Given the description of an element on the screen output the (x, y) to click on. 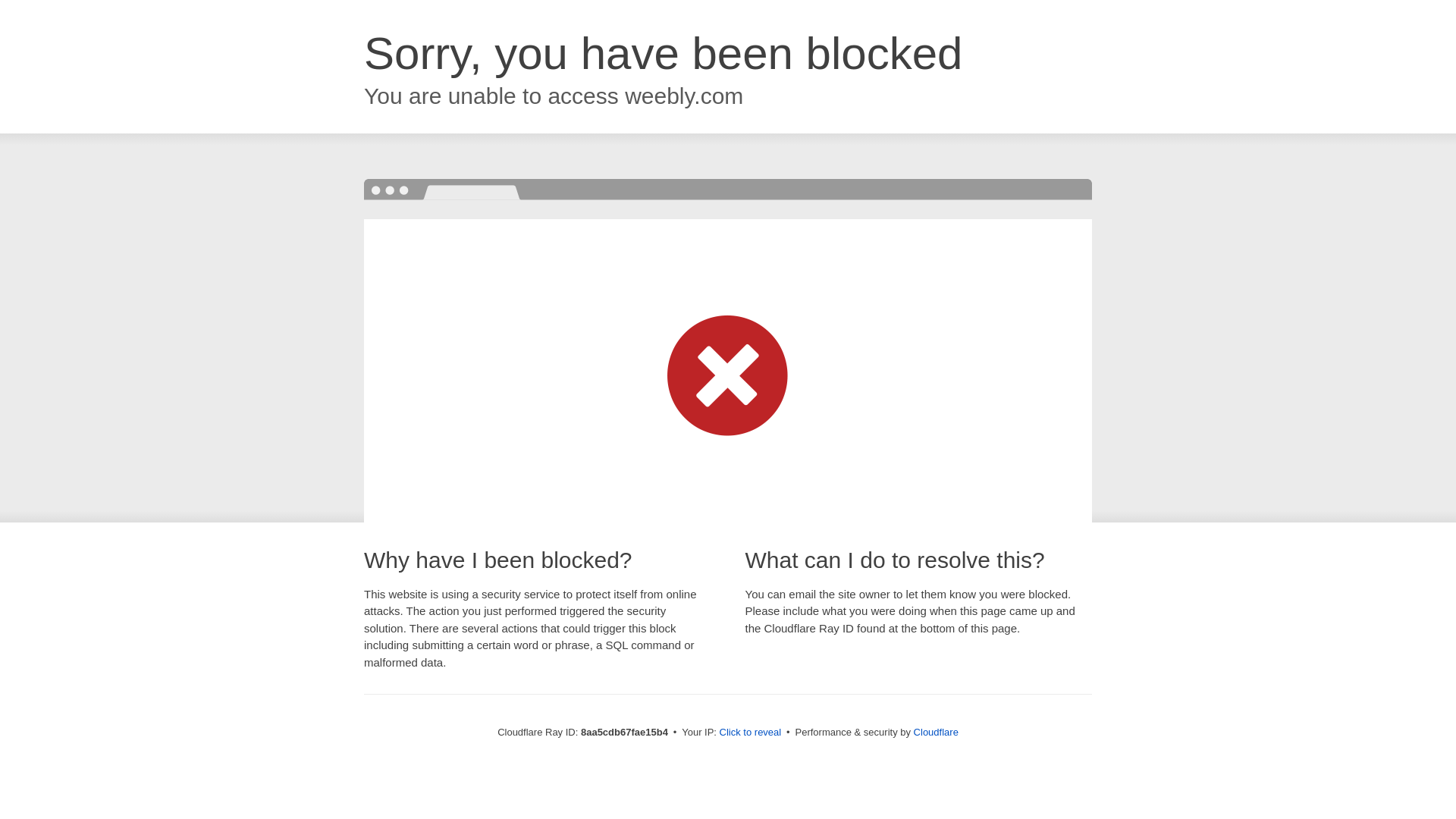
Click to reveal (750, 732)
Cloudflare (936, 731)
